Given the description of an element on the screen output the (x, y) to click on. 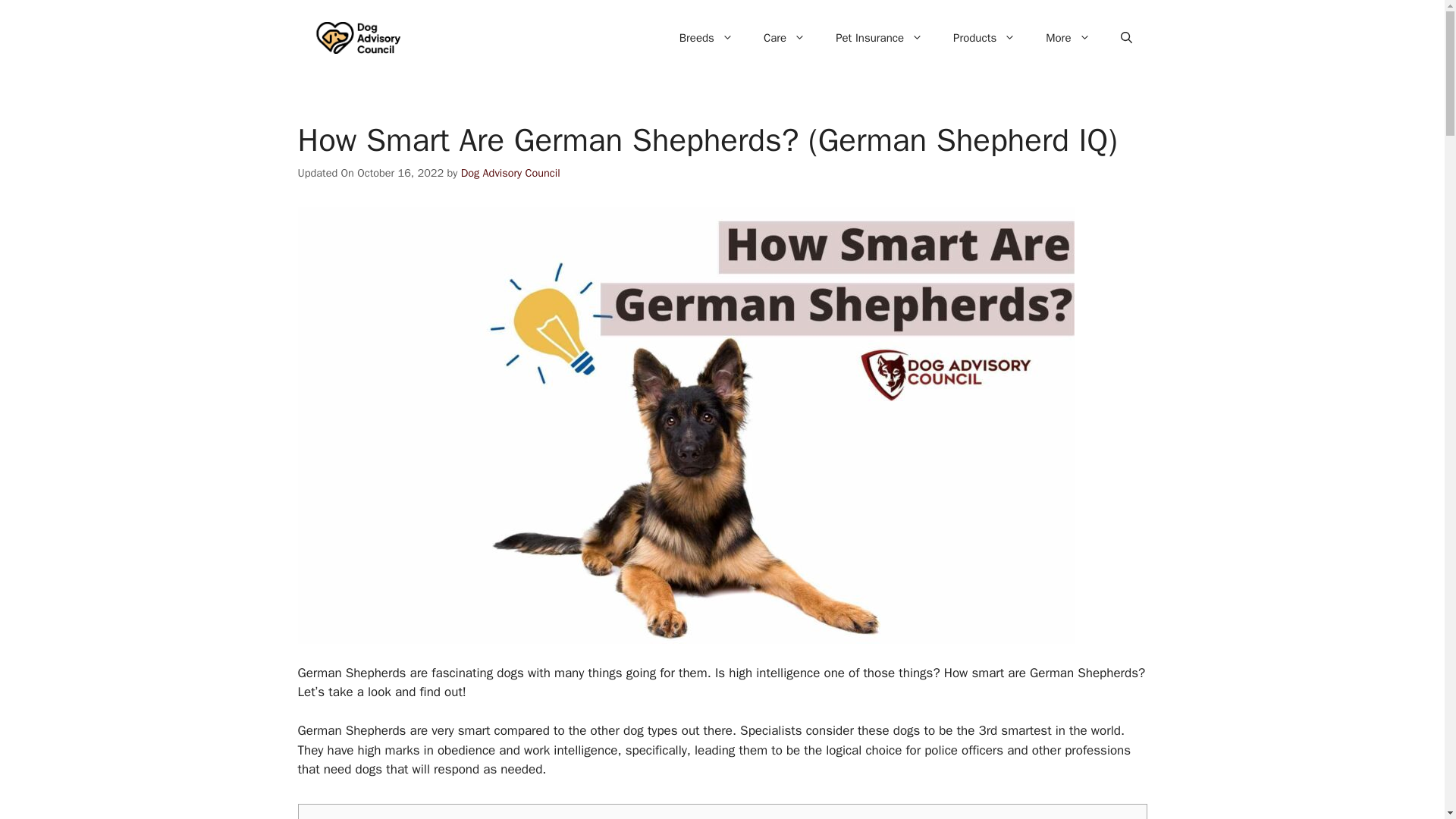
Pet Insurance (879, 37)
Breeds (705, 37)
View all posts by Dog Advisory Council (510, 172)
Care (784, 37)
